Given the description of an element on the screen output the (x, y) to click on. 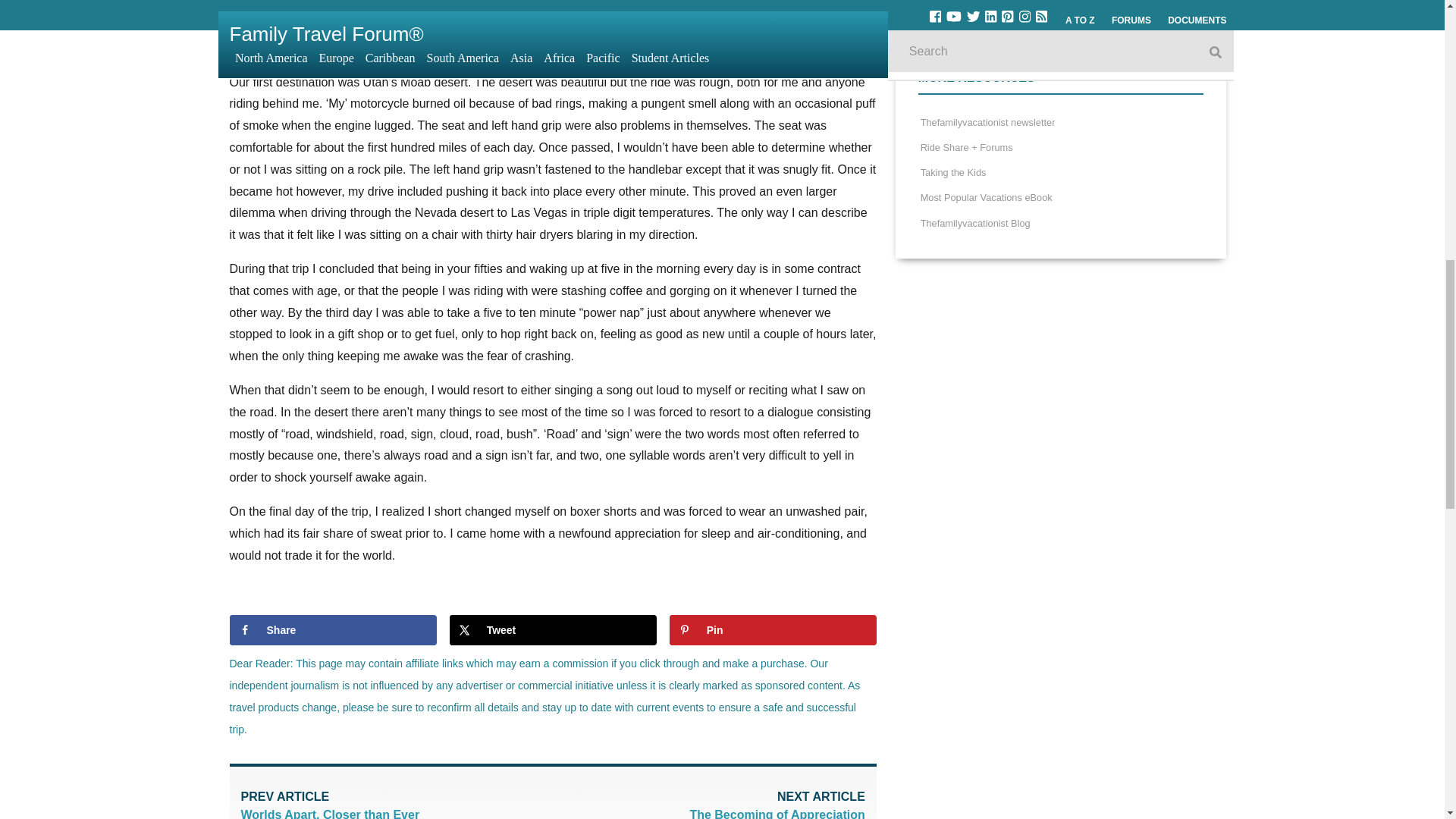
Tweet (552, 630)
Share on X (395, 804)
Save to Pinterest (552, 630)
Pin (772, 630)
Share on Facebook (772, 630)
Share (710, 804)
